Given the description of an element on the screen output the (x, y) to click on. 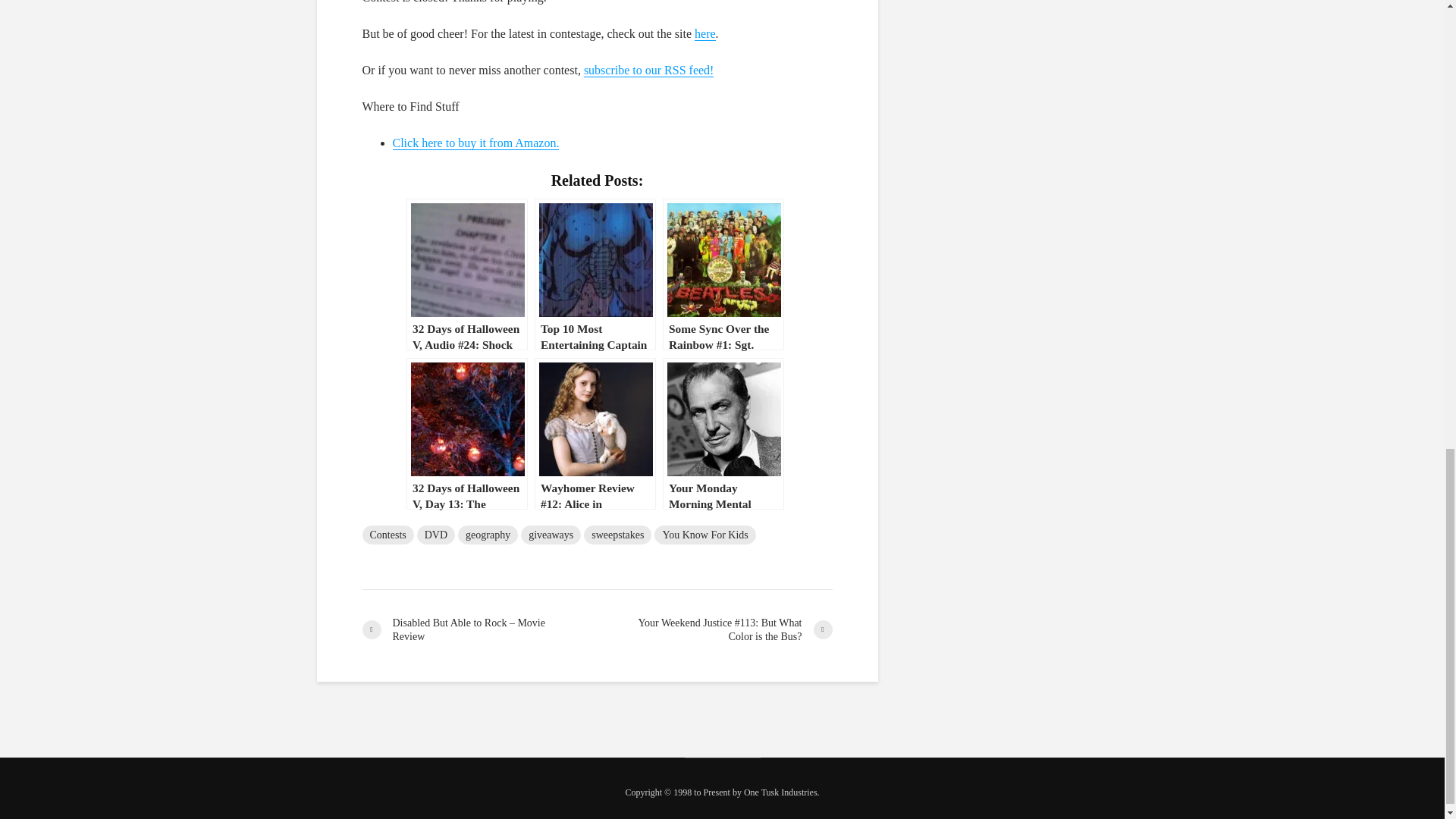
geography (488, 534)
subscribe to our RSS feed! (648, 69)
giveaways (550, 534)
You Know For Kids (704, 534)
Contests (387, 534)
here (705, 33)
Click here to buy it from Amazon. (476, 142)
sweepstakes (616, 534)
DVD (435, 534)
